Given the description of an element on the screen output the (x, y) to click on. 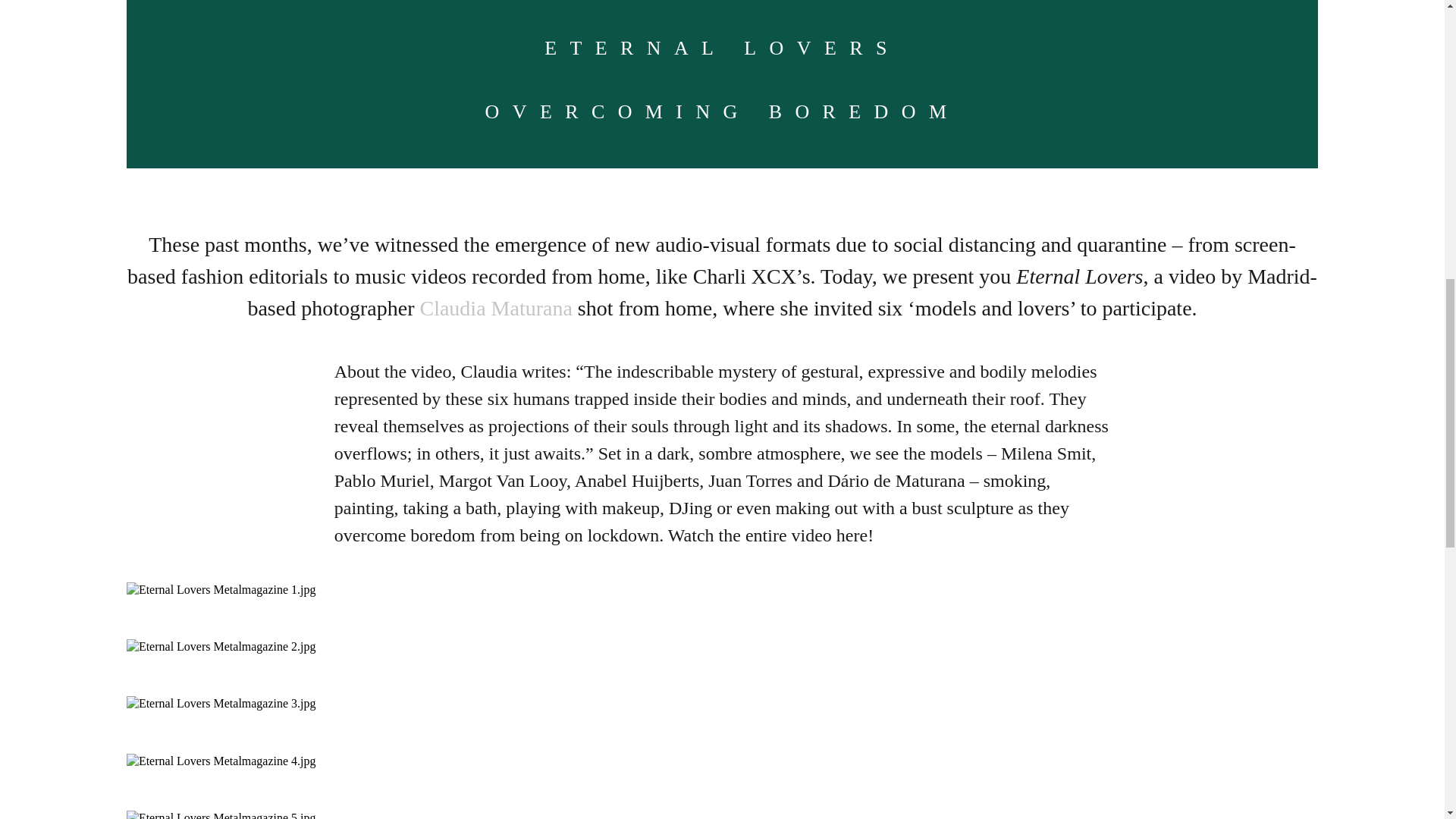
Claudia Maturana (495, 308)
